Given the description of an element on the screen output the (x, y) to click on. 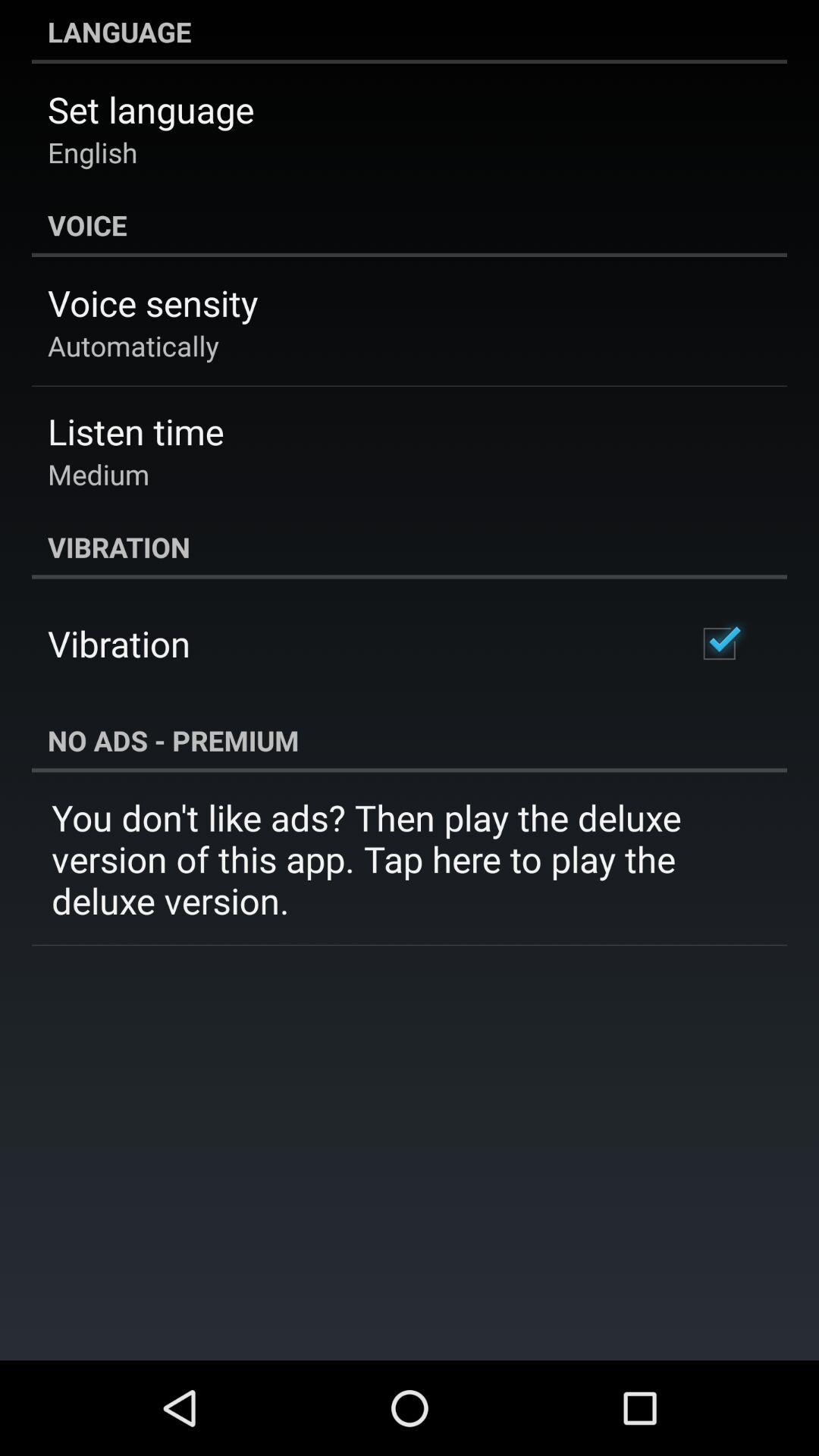
turn off app above you don t app (409, 740)
